Given the description of an element on the screen output the (x, y) to click on. 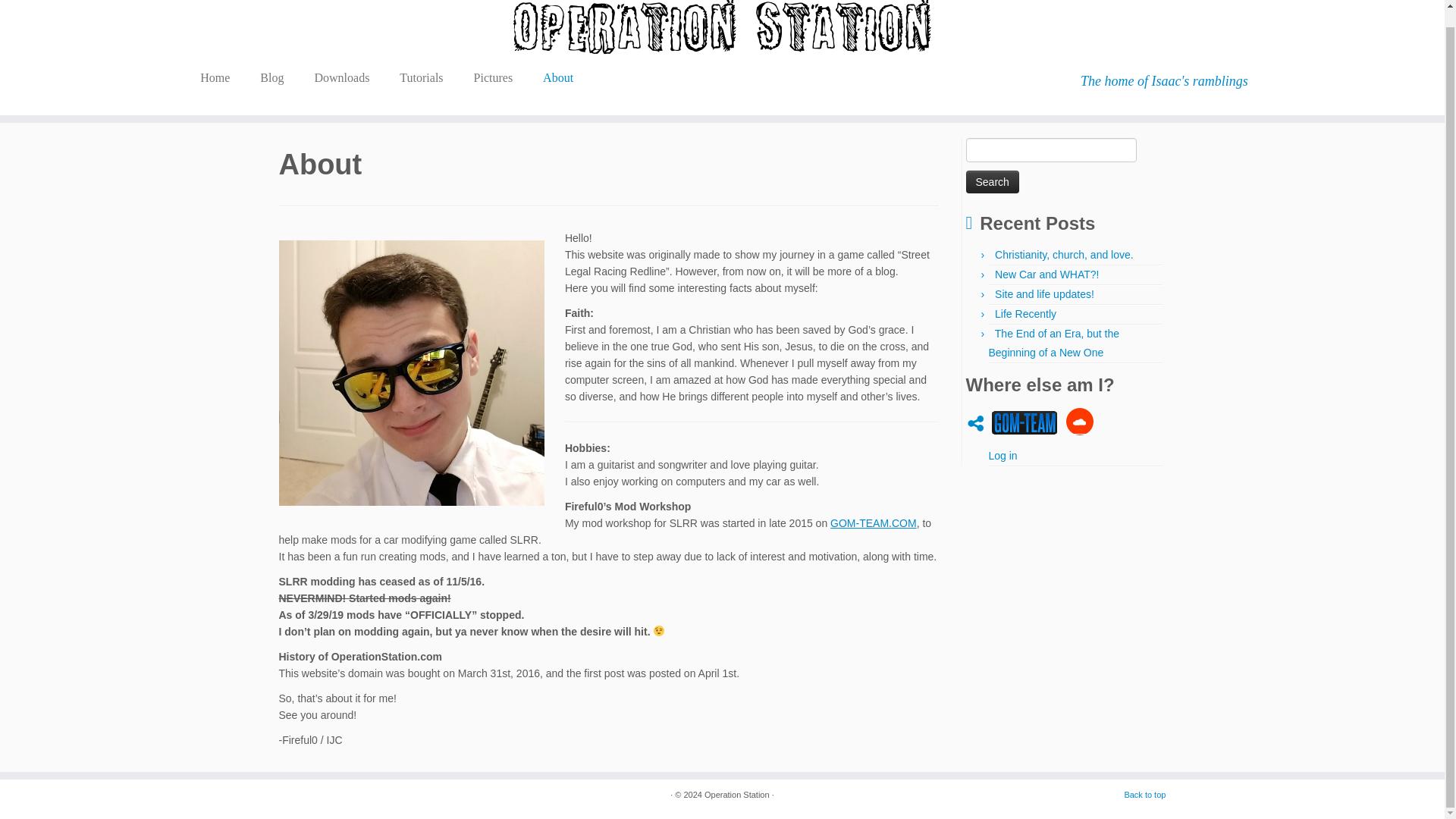
Home (220, 78)
Operation Station (737, 795)
Pictures (493, 78)
Back to top (1145, 794)
New Car and WHAT?! (1046, 274)
Search (992, 181)
Site and life updates! (1044, 294)
The End of an Era, but the Beginning of a New One (1053, 342)
Tutorials (421, 78)
GOM-TEAM.COM (873, 522)
Search (992, 181)
Life Recently (1025, 313)
Log in (1002, 455)
Blog (271, 78)
About (557, 78)
